Given the description of an element on the screen output the (x, y) to click on. 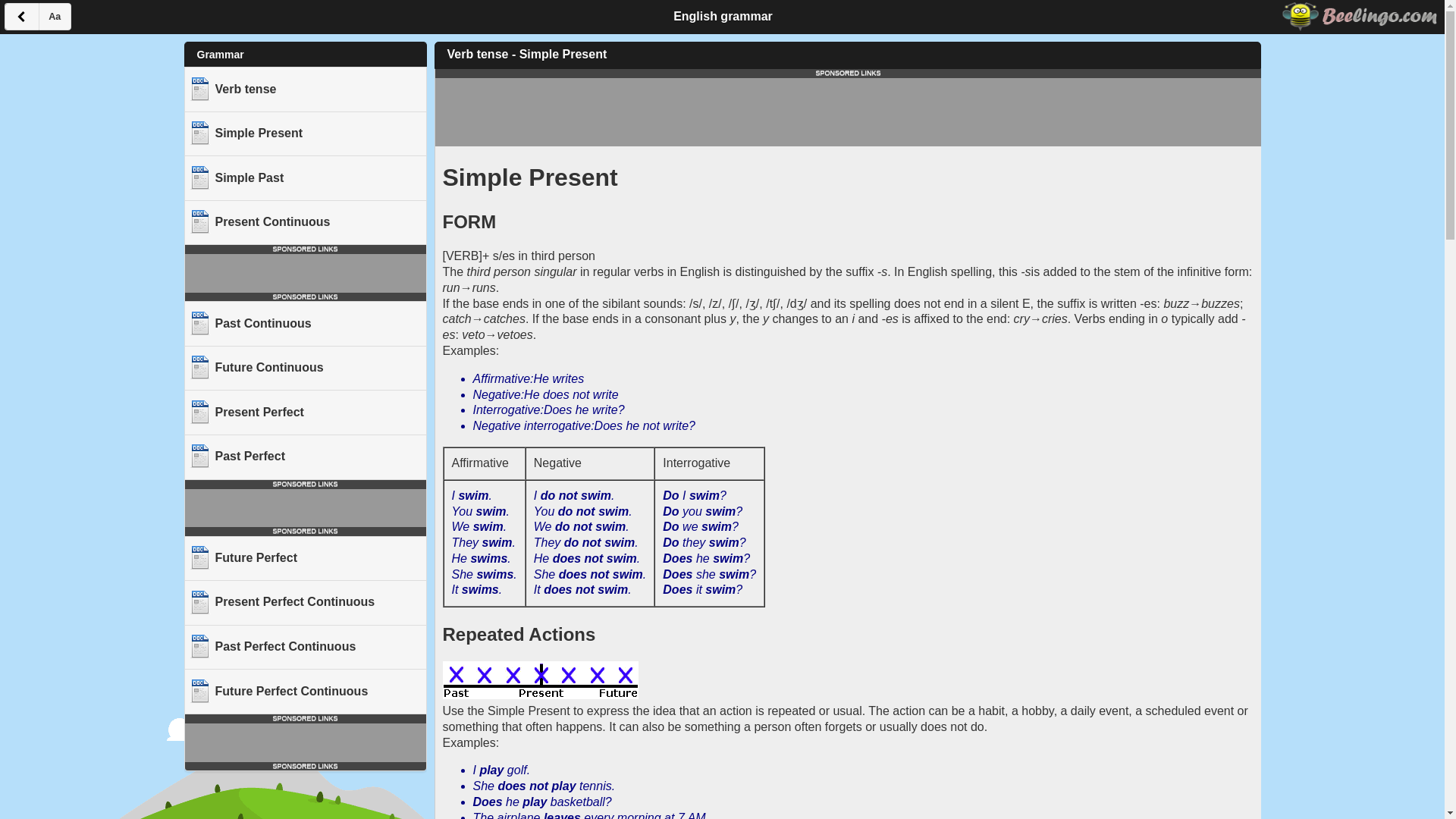
Past Perfect Continuous (304, 646)
Pronunciation in IPA (747, 303)
Simple Past (304, 177)
Future Perfect Continuous (304, 691)
Future Perfect (304, 558)
Present Perfect Continuous (304, 601)
Advertisement (306, 507)
Present Continuous (304, 221)
Past Perfect (304, 456)
Future Continuous (304, 367)
Past Continuous (304, 323)
Back (21, 16)
Present Perfect (304, 411)
Verb tense (304, 88)
Advertisement (306, 742)
